Given the description of an element on the screen output the (x, y) to click on. 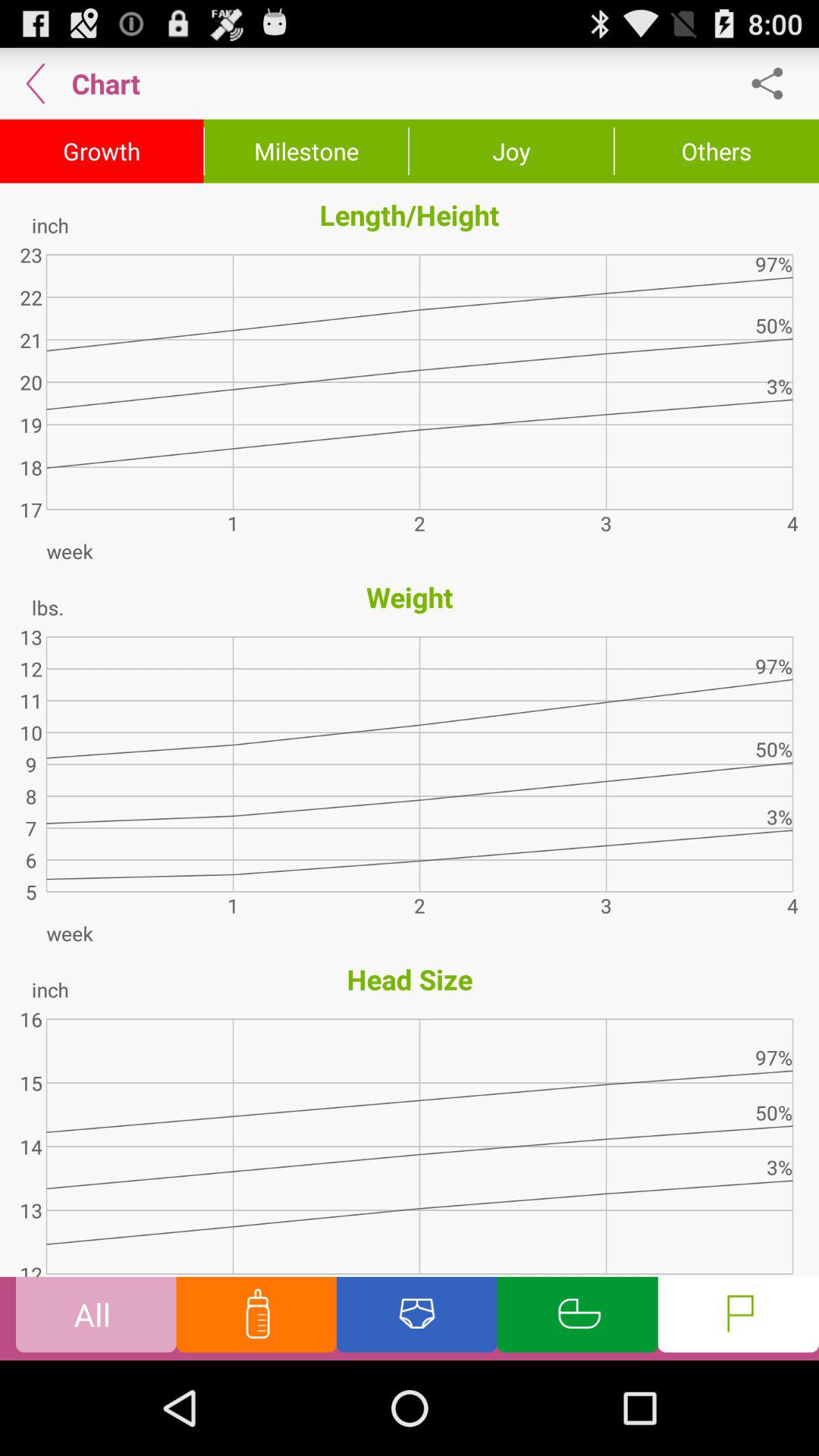
click on the joy option (511, 151)
click on the icon right to the all (256, 1317)
select the option all at the bottom corner of the page (95, 1317)
click on the image at right adjacent side of baby bottle (416, 1317)
click on the second icon from right most bottom of the page (577, 1317)
select milestone (306, 151)
